Given the description of an element on the screen output the (x, y) to click on. 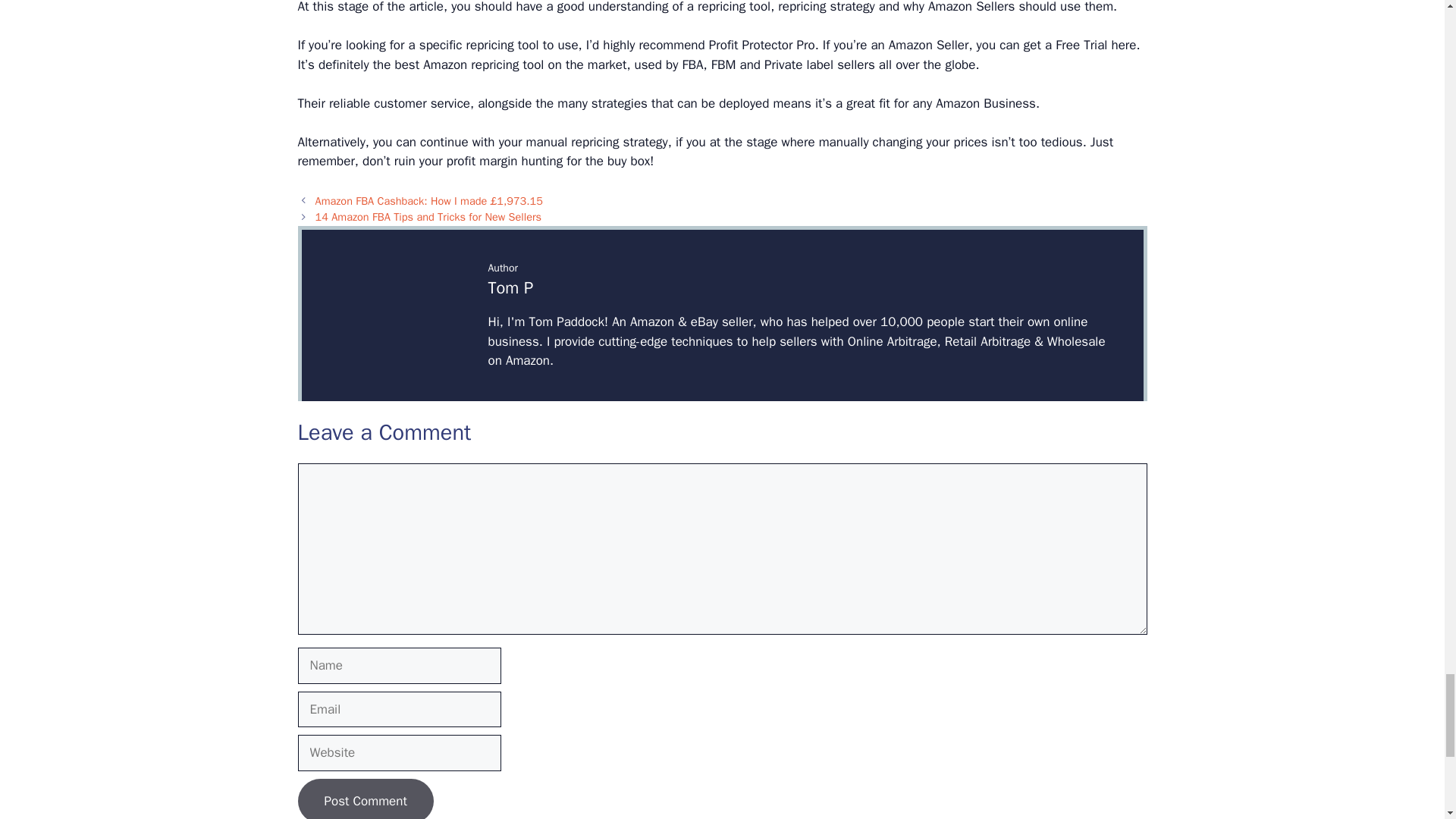
Post Comment (364, 798)
Post Comment (364, 798)
14 Amazon FBA Tips and Tricks for New Sellers (428, 216)
